Given the description of an element on the screen output the (x, y) to click on. 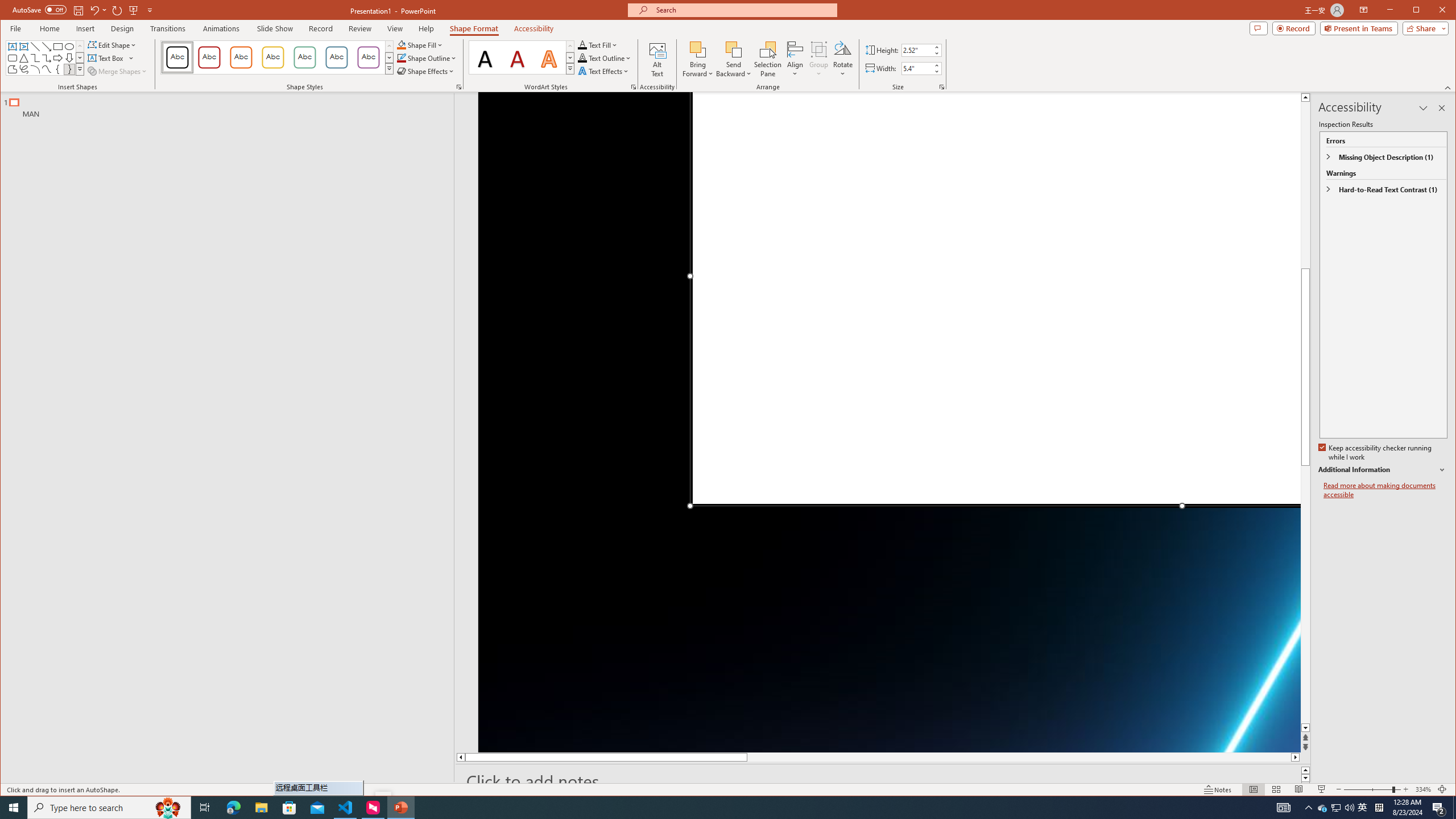
Selection Pane... (767, 59)
Text Outline RGB(0, 0, 0) (582, 57)
Send Backward (733, 48)
